Given the description of an element on the screen output the (x, y) to click on. 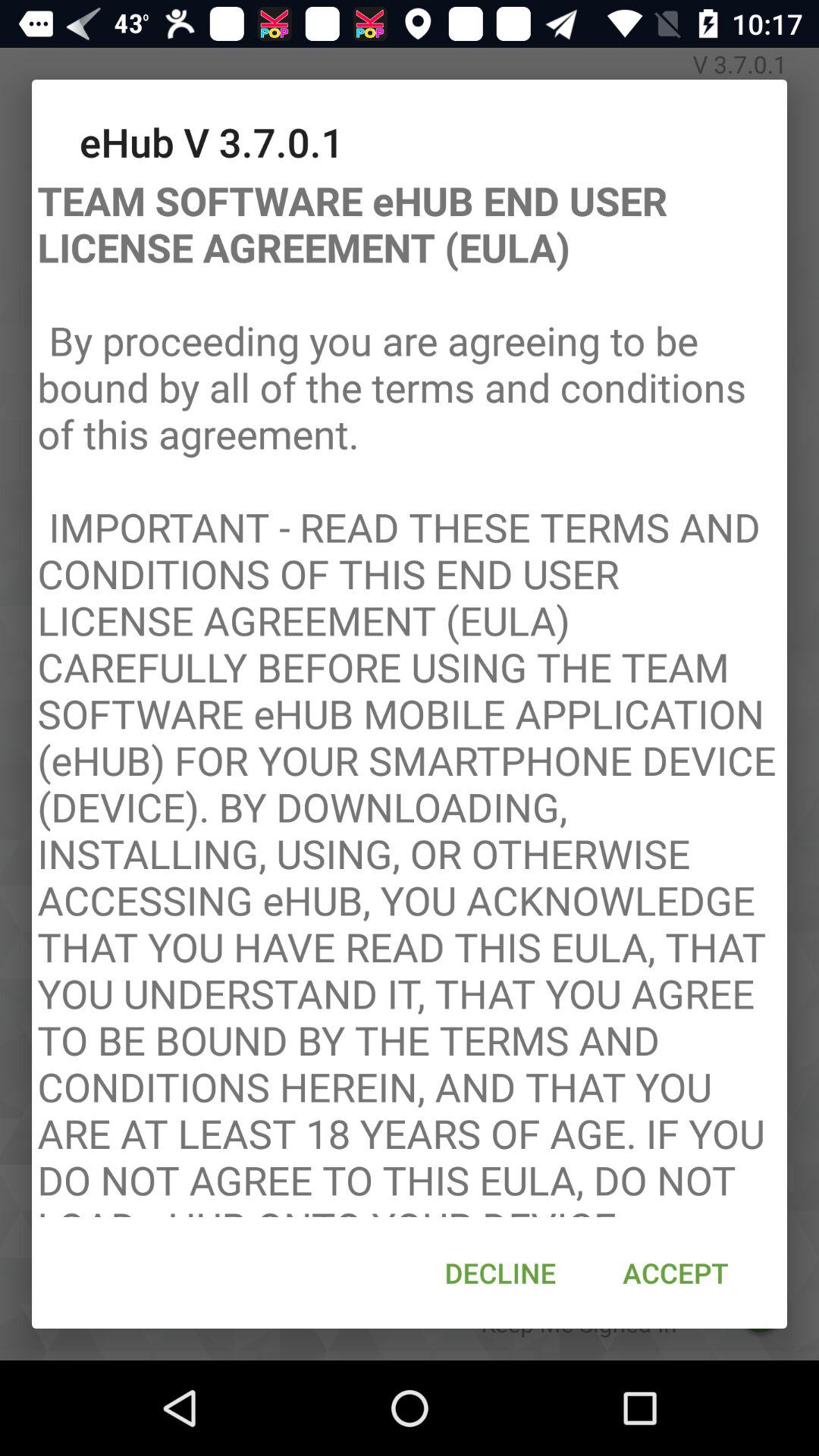
tap the item at the center (409, 692)
